Given the description of an element on the screen output the (x, y) to click on. 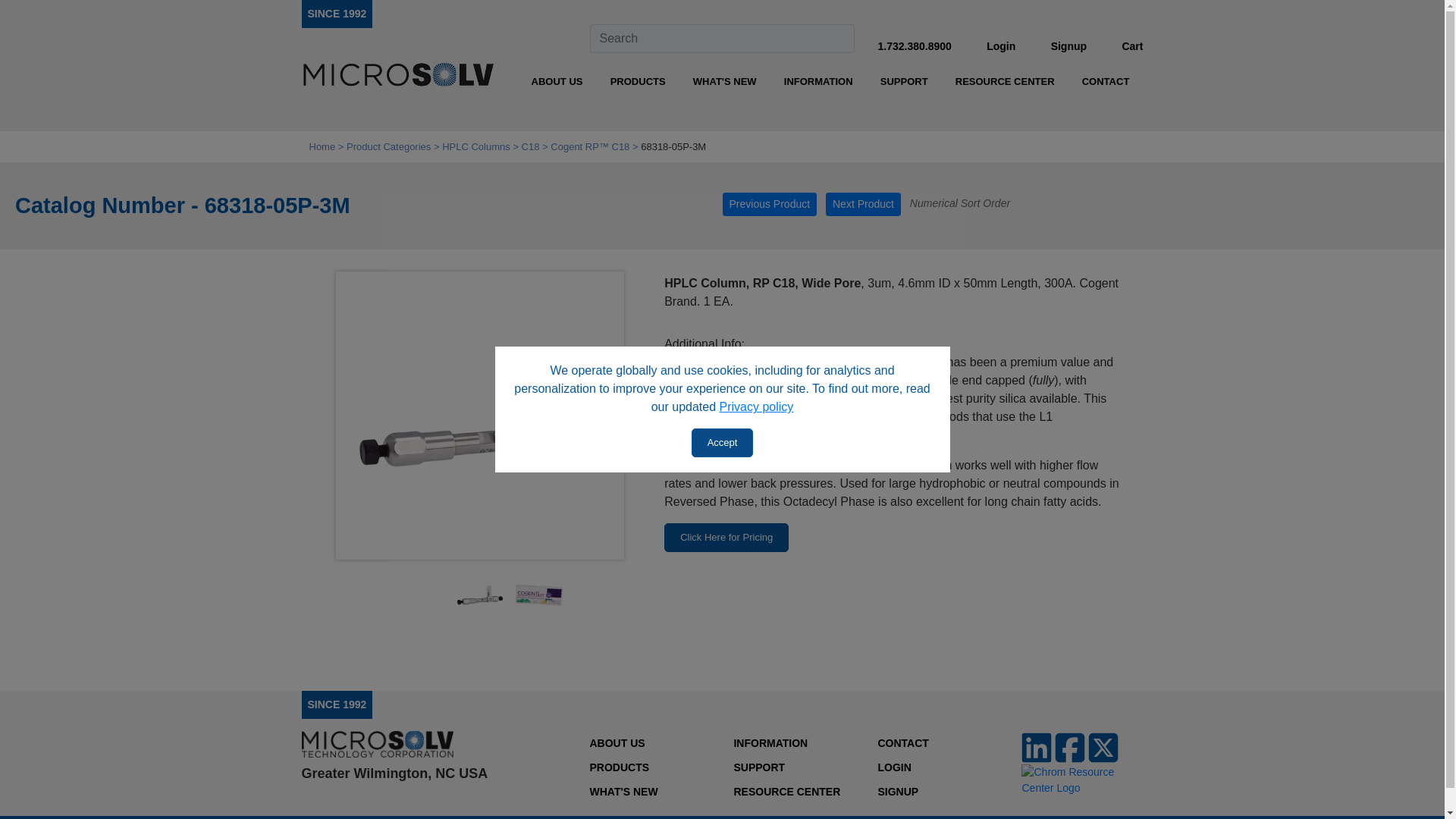
PRODUCTS (637, 81)
1.732.380.8900 (913, 46)
About Us (557, 81)
Products (637, 81)
Login (1000, 46)
Information (818, 81)
Micro Solv Technology Corporation (336, 13)
Cart (1131, 46)
Signup (1068, 46)
ABOUT US (557, 81)
Signup (1068, 46)
Blog (724, 81)
Micro Solv Technology Corporation (398, 76)
Privacy policy (756, 406)
Accept (722, 442)
